Given the description of an element on the screen output the (x, y) to click on. 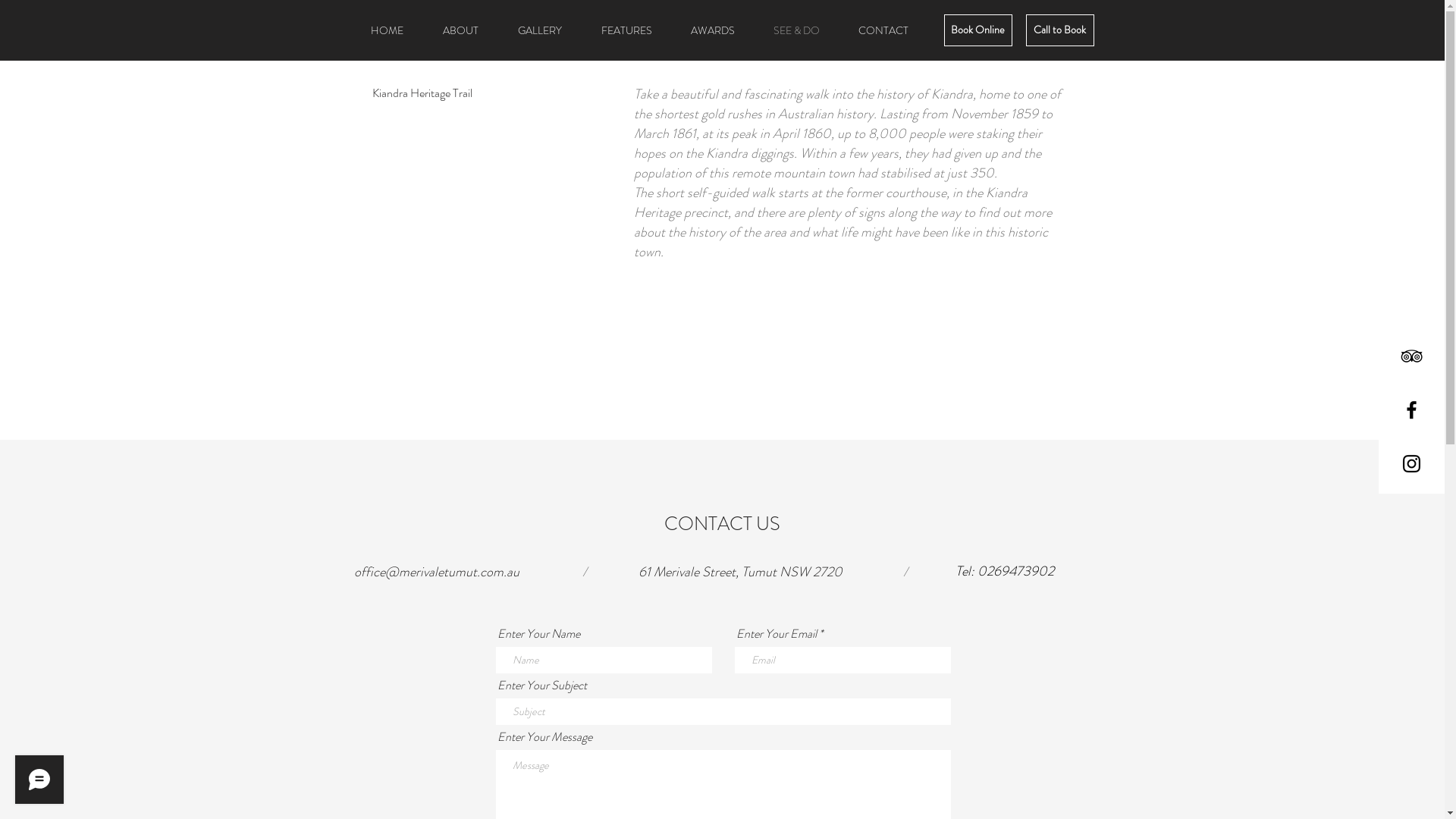
Call to Book Element type: text (1059, 30)
AWARDS Element type: text (712, 30)
ABOUT Element type: text (460, 30)
Book Online Element type: text (977, 30)
office@merivaletumut.com.au Element type: text (435, 571)
CONTACT Element type: text (882, 30)
HOME Element type: text (386, 30)
GALLERY Element type: text (538, 30)
FEATURES Element type: text (625, 30)
SEE & DO Element type: text (795, 30)
Tel: 0269473902 Element type: text (1004, 571)
